Given the description of an element on the screen output the (x, y) to click on. 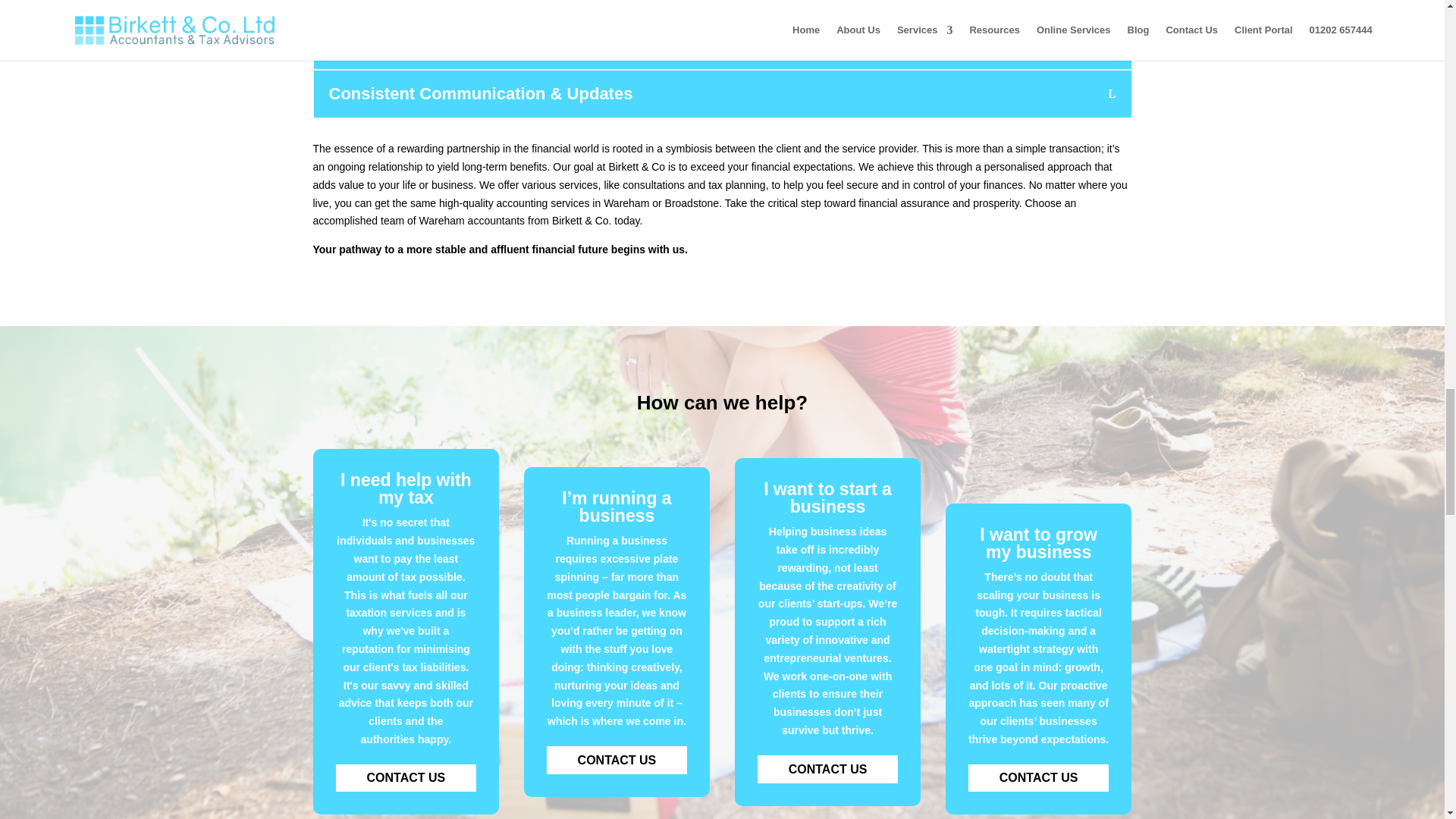
CONTACT US (617, 759)
CONTACT US (1038, 778)
CONTACT US (406, 778)
CONTACT US (827, 768)
